Given the description of an element on the screen output the (x, y) to click on. 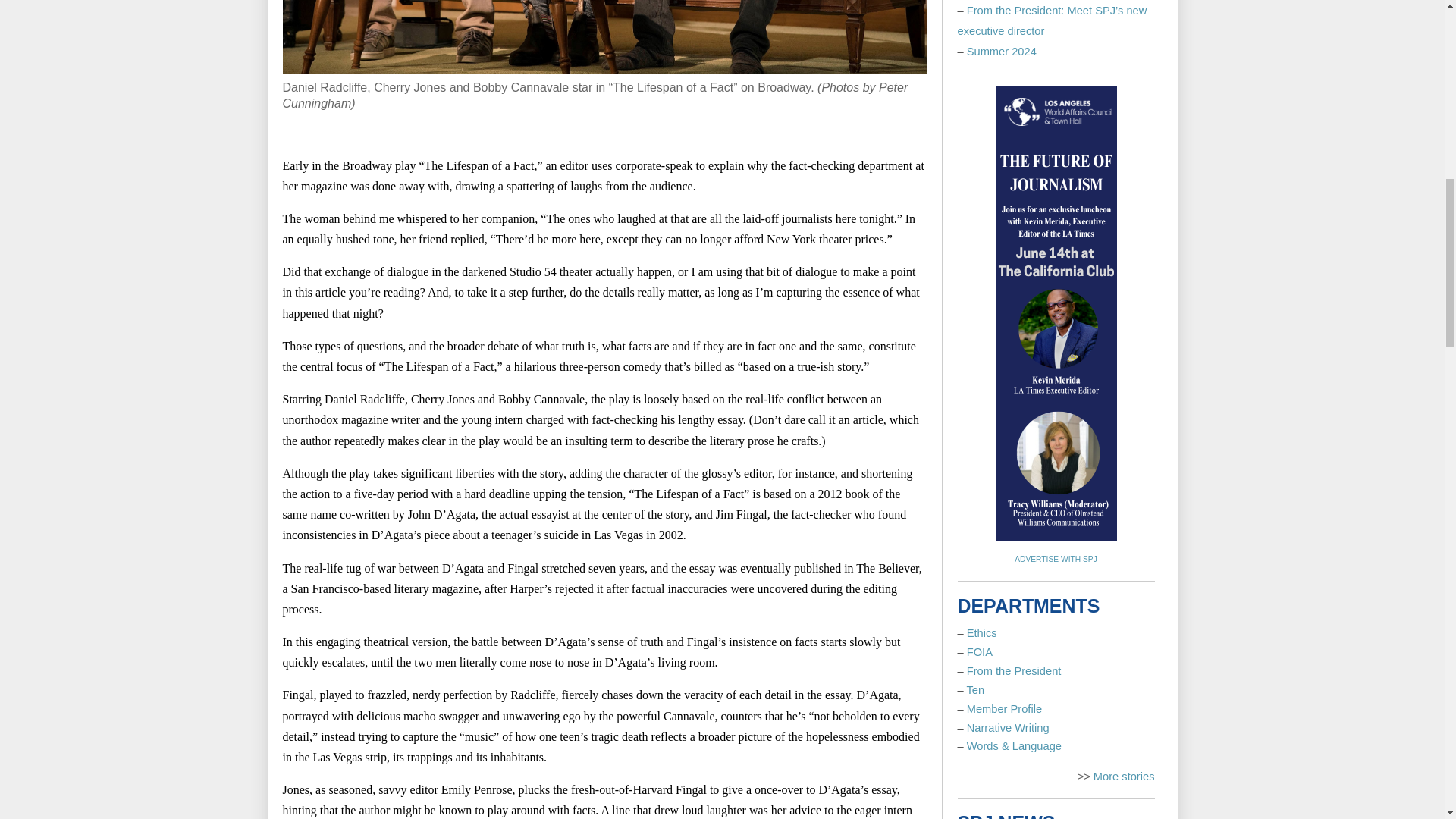
Ethics (981, 633)
Ten (975, 689)
Summer 2024 (1001, 51)
Member Profile (1004, 708)
ADVERTISE WITH SPJ (1055, 559)
From the President (1013, 671)
FOIA (979, 652)
